Given the description of an element on the screen output the (x, y) to click on. 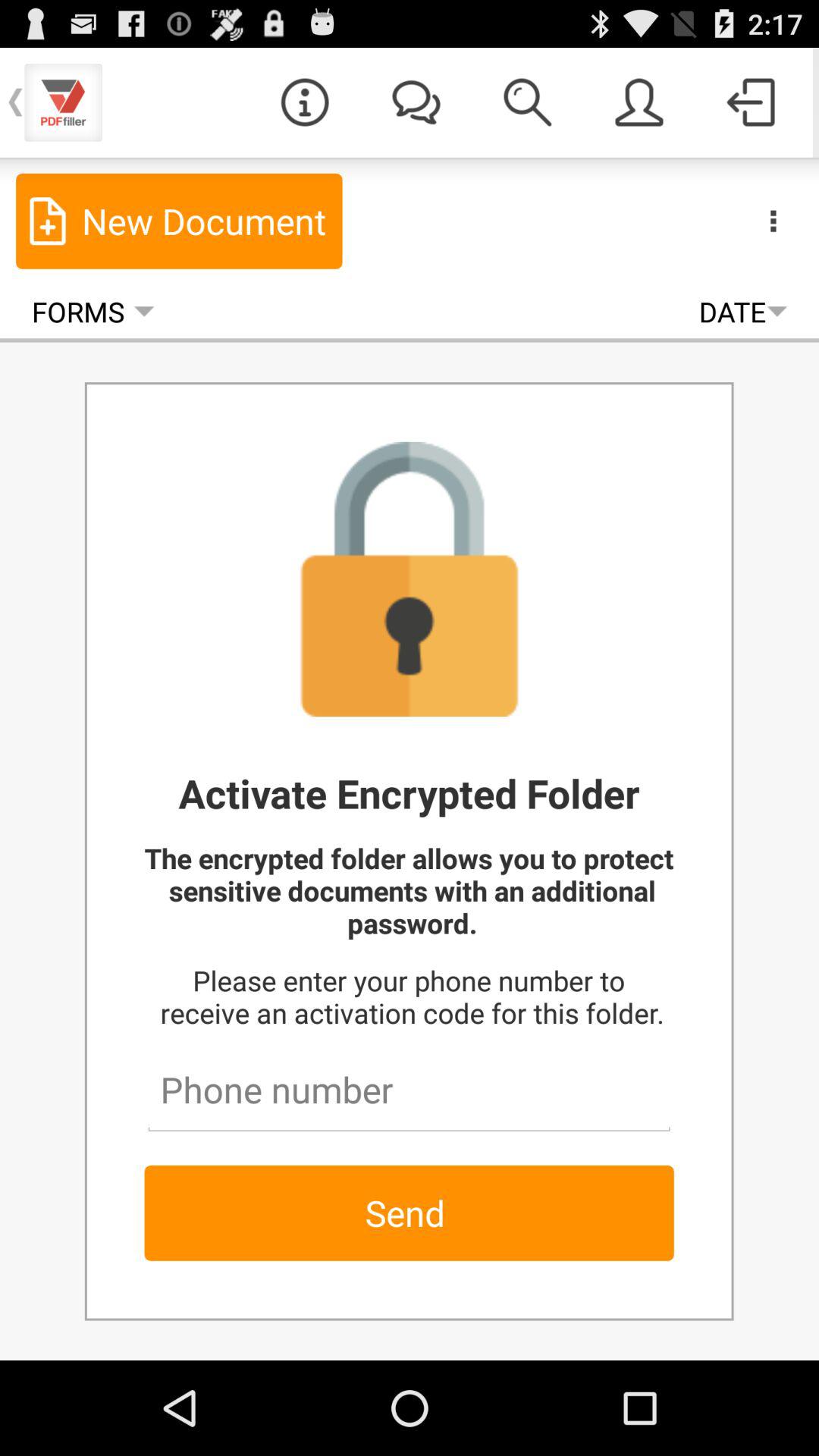
the more tab or access featues button (773, 220)
